Given the description of an element on the screen output the (x, y) to click on. 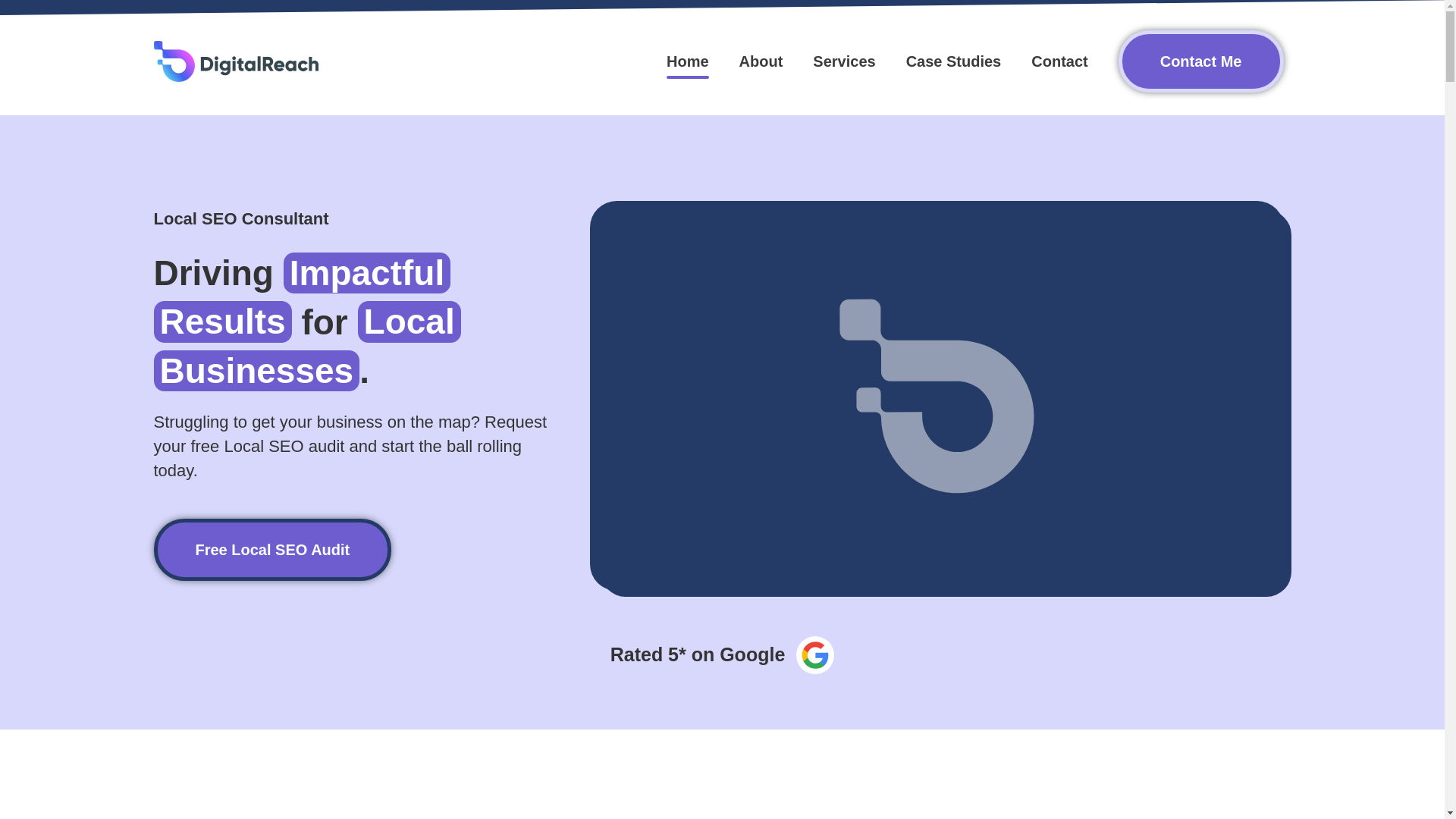
About (760, 61)
Contact Me (1201, 61)
Free Local SEO Audit (271, 549)
Contact (1059, 61)
Home (686, 61)
Case Studies (953, 61)
Services (843, 61)
